Given the description of an element on the screen output the (x, y) to click on. 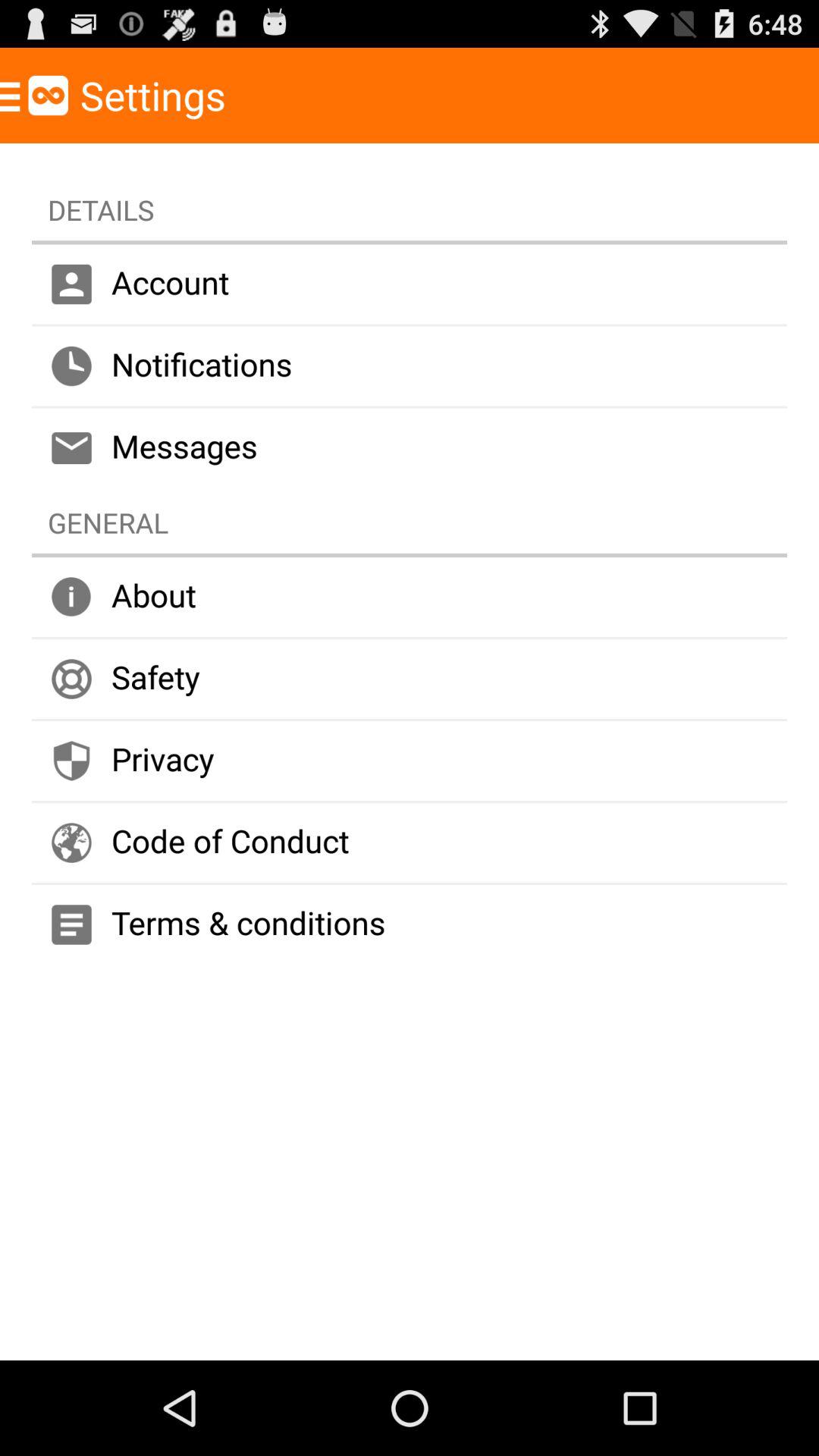
launch the item above the messages item (409, 366)
